Given the description of an element on the screen output the (x, y) to click on. 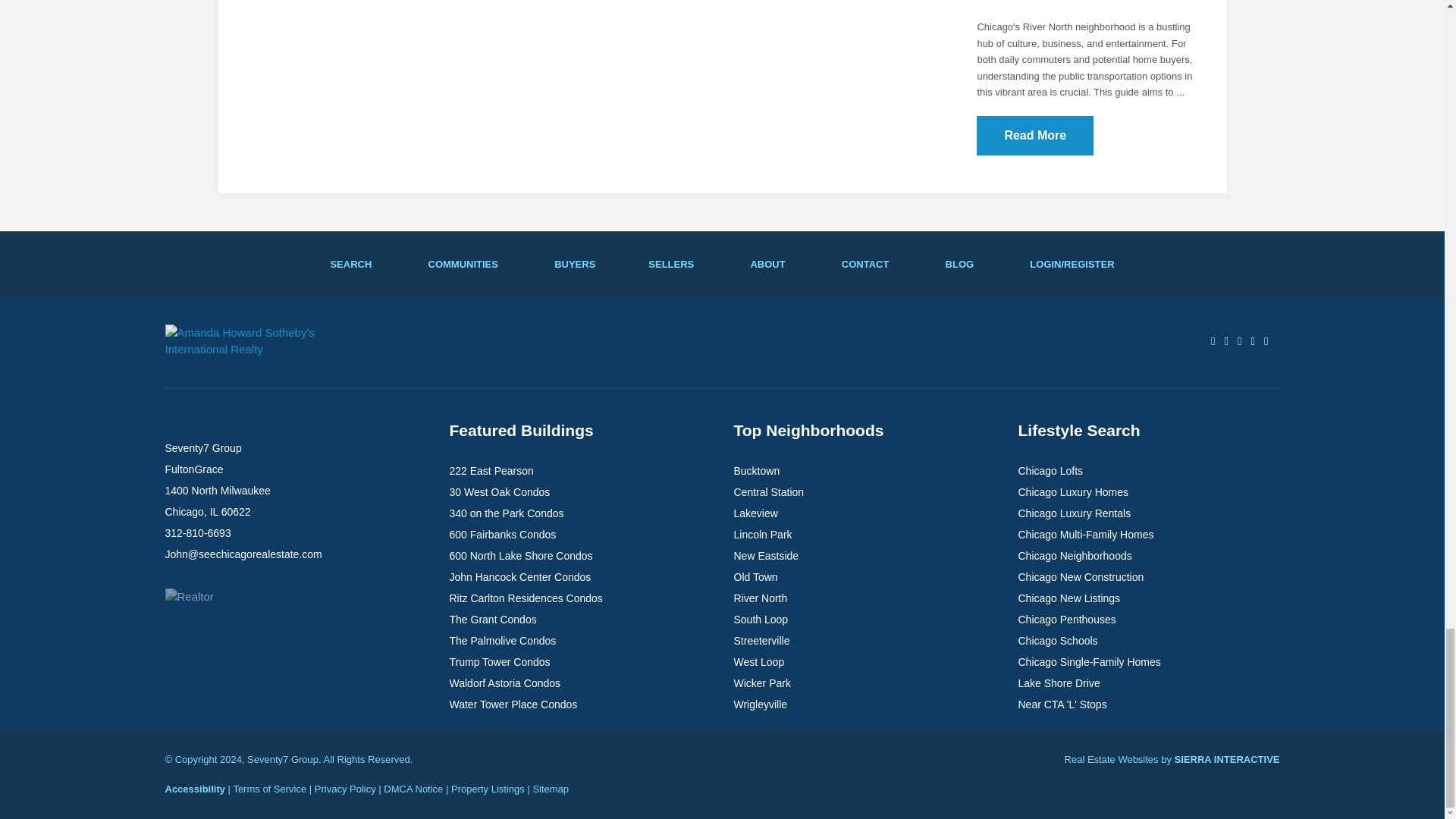
View Ritz Carlton Residences Condos (525, 598)
View 600 Fairbanks Condos (502, 534)
View Lakeview (755, 512)
View Old Town (755, 576)
View Trump Tower Condos (499, 662)
View Water Tower Place Condos (512, 704)
View New Eastside (766, 555)
View 600 North Lake Shore Condos (520, 555)
View Waldorf Astoria Condos (504, 683)
View 340 on the Park Condos (505, 512)
